Given the description of an element on the screen output the (x, y) to click on. 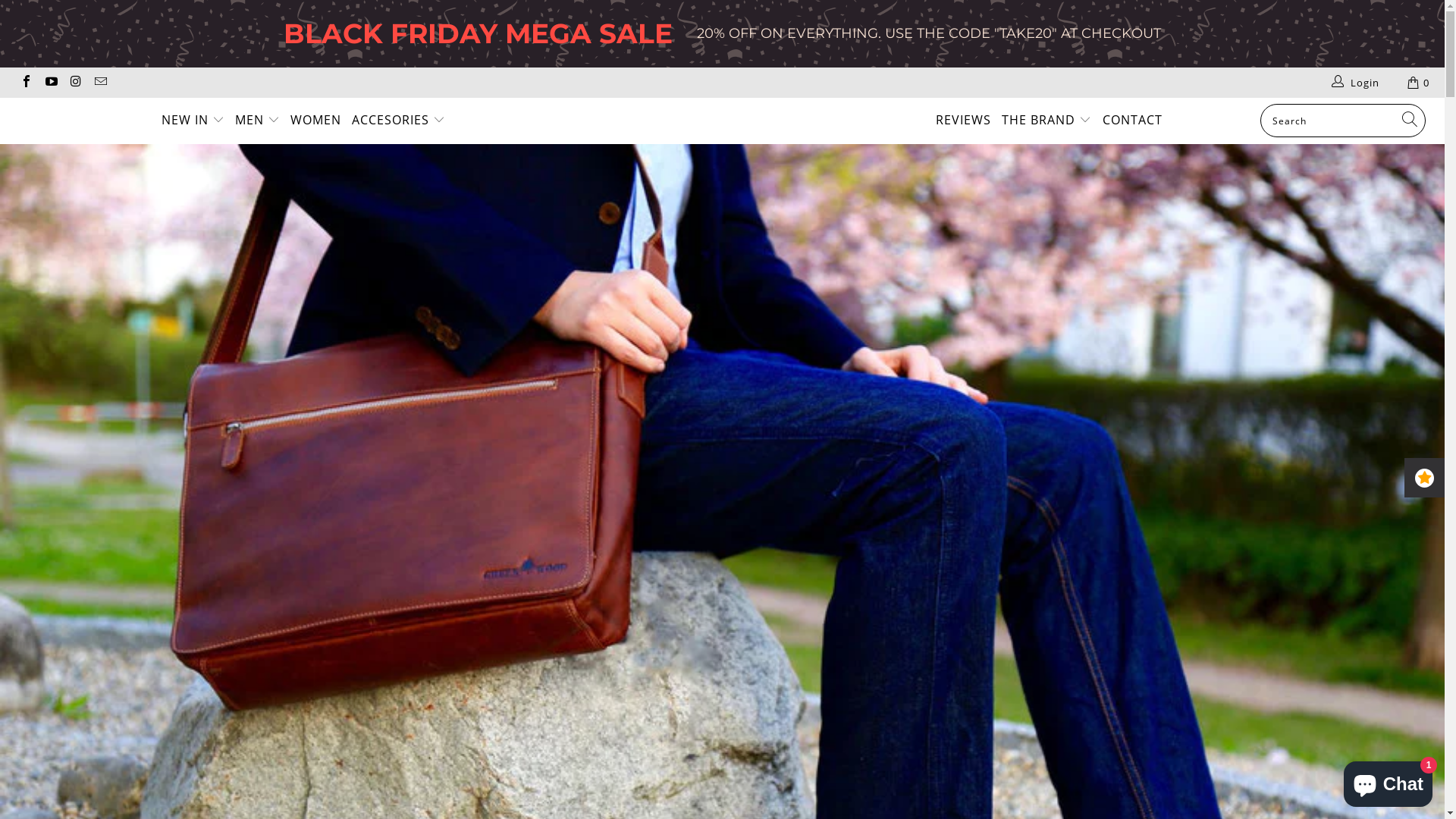
Greenwood Leather on Instagram Element type: hover (74, 82)
Greenwood Leather on Facebook Element type: hover (25, 82)
REVIEWS Element type: text (963, 120)
WOMEN Element type: text (315, 120)
CONTACT Element type: text (1132, 120)
0 Element type: text (1419, 82)
Greenwood Leather on YouTube Element type: hover (49, 82)
MEN Element type: text (257, 120)
THE BRAND Element type: text (1046, 120)
Greenwood Leather Element type: hover (729, 101)
NEW IN Element type: text (192, 120)
Shopify online store chat Element type: hover (1388, 780)
Login Element type: text (1355, 82)
ACCESORIES Element type: text (398, 120)
Email Greenwood Leather Element type: hover (99, 82)
